Given the description of an element on the screen output the (x, y) to click on. 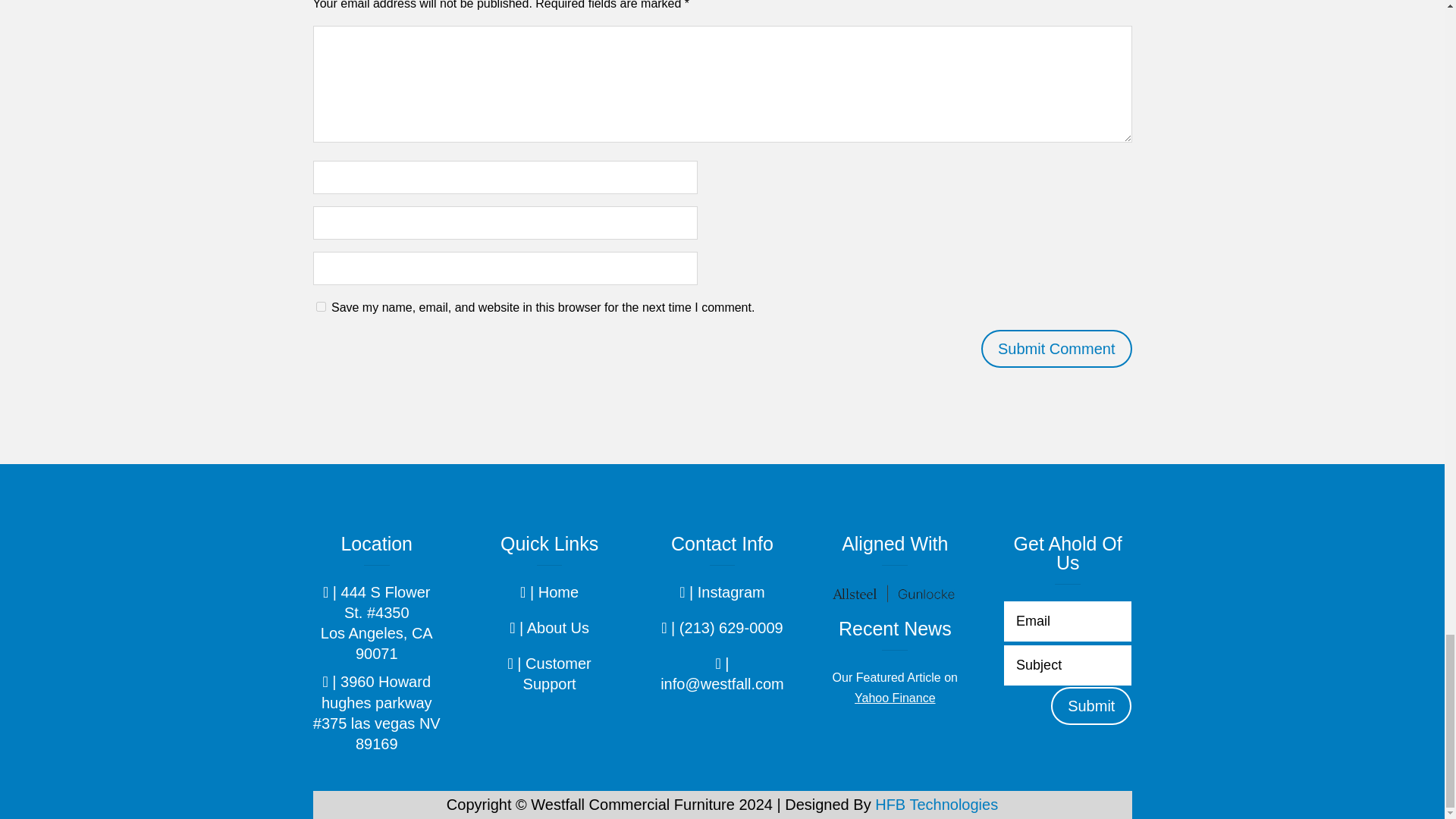
Submit (1091, 705)
HFB Technologies (936, 804)
allsteel-gunlocke png (894, 593)
Submit Comment (1056, 348)
yes (319, 307)
